Given the description of an element on the screen output the (x, y) to click on. 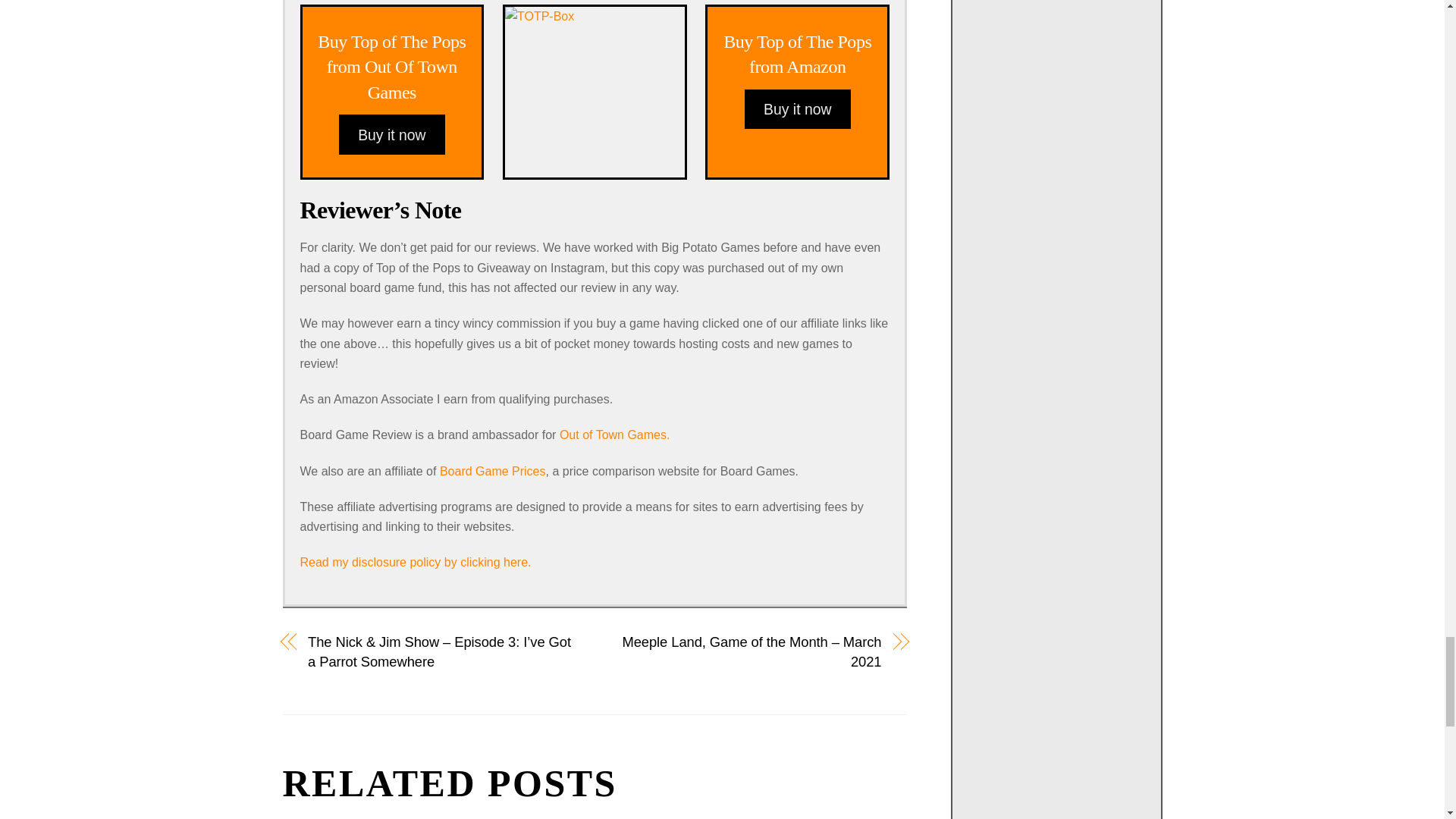
TOTP-Box (594, 87)
Board Game Prices (492, 471)
Buy it now (797, 108)
Buy it now (392, 133)
Out of Town Games. (796, 53)
Read my disclosure policy by clicking here. (391, 66)
